Given the description of an element on the screen output the (x, y) to click on. 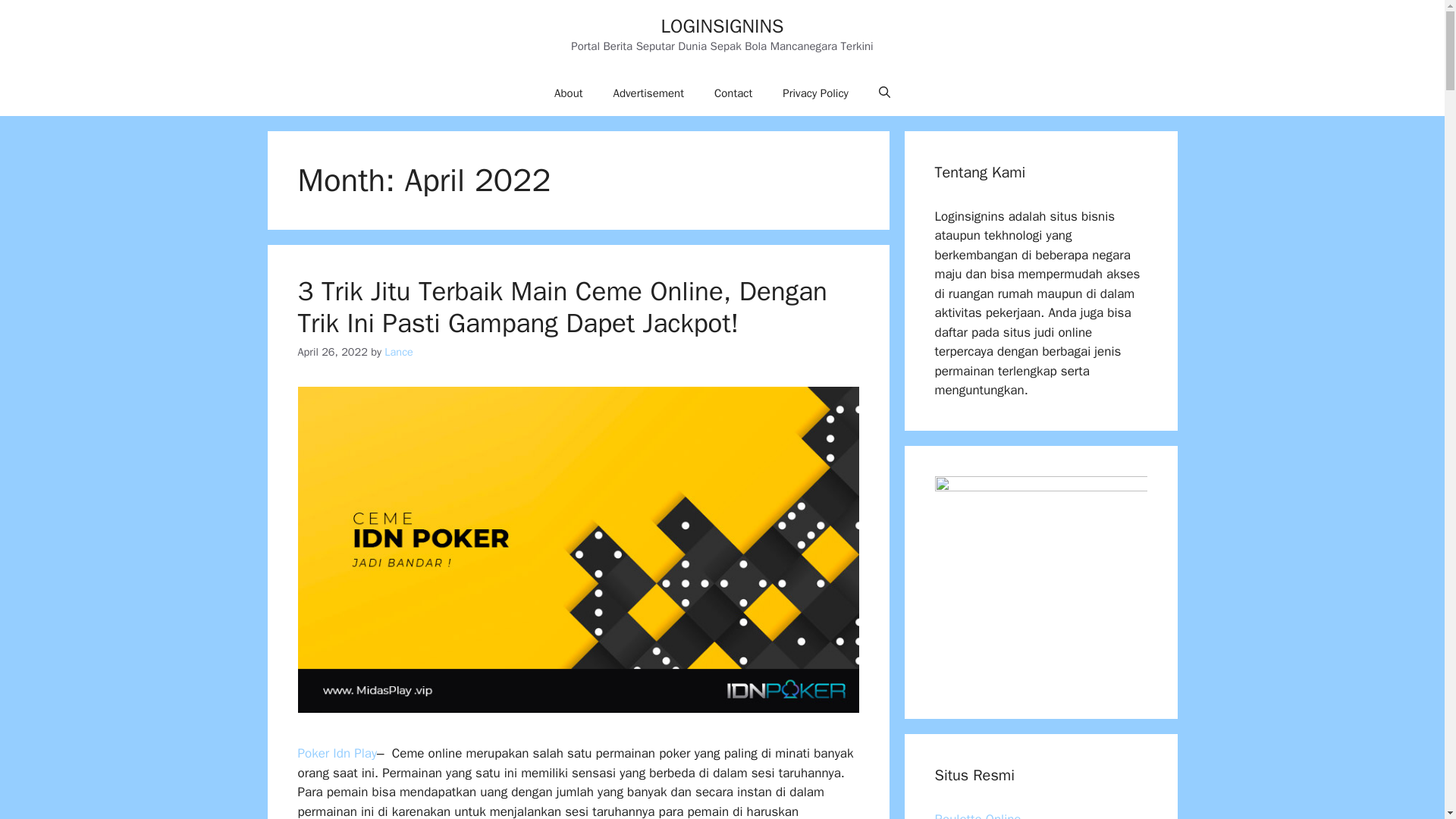
Lance (398, 351)
Poker Idn Play (337, 753)
About (567, 92)
Privacy Policy (815, 92)
View all posts by Lance (398, 351)
Contact (732, 92)
LOGINSIGNINS (722, 25)
Advertisement (648, 92)
